Given the description of an element on the screen output the (x, y) to click on. 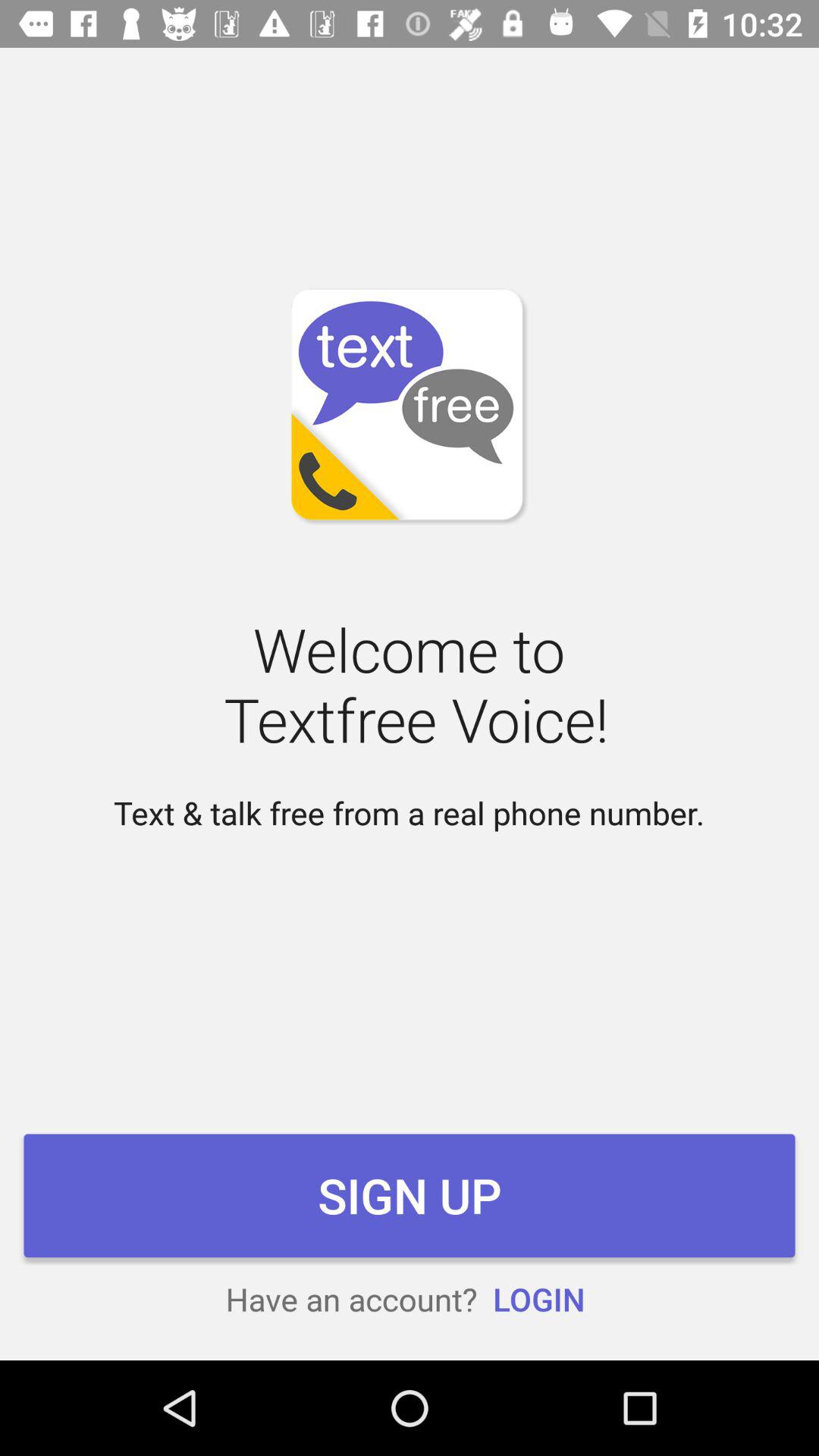
jump until sign up item (409, 1195)
